Given the description of an element on the screen output the (x, y) to click on. 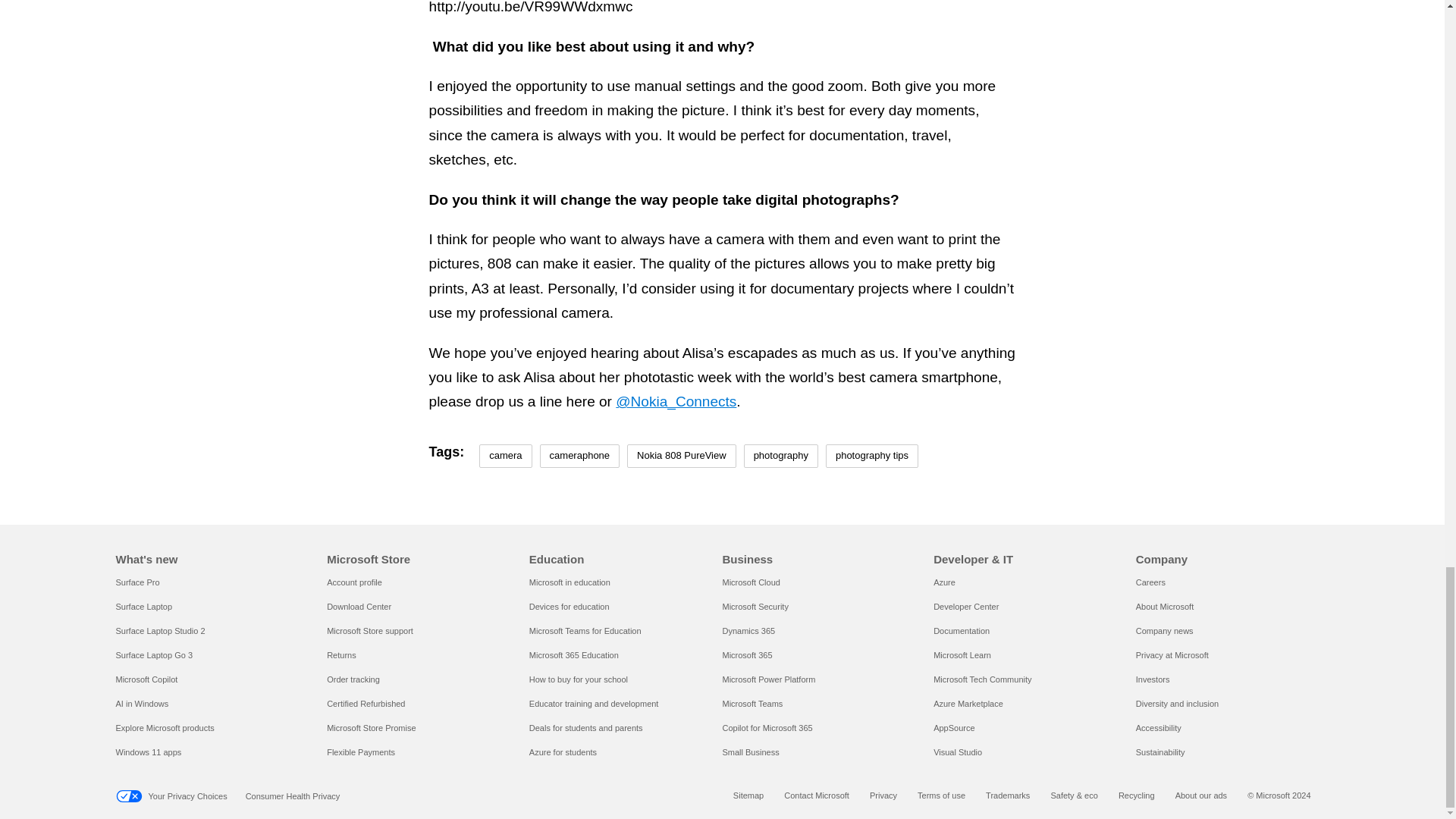
Nokia 808 PureView Tag (681, 455)
photography Tag (781, 455)
photography tips Tag (871, 455)
camera Tag (505, 455)
cameraphone Tag (580, 455)
